Given the description of an element on the screen output the (x, y) to click on. 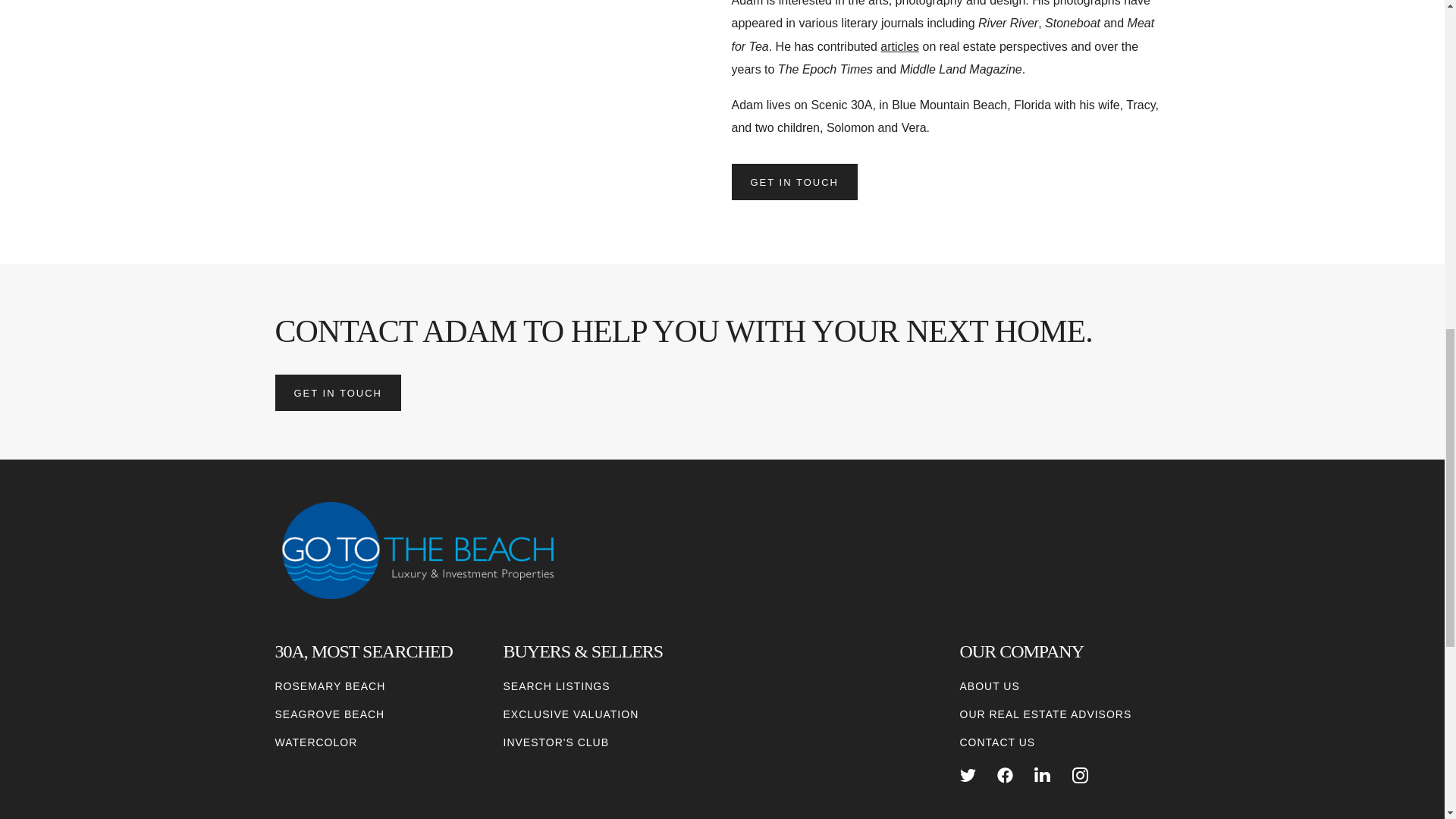
LINKEDIN (1041, 774)
TWITTER (967, 774)
FACEBOOK (1005, 774)
